Given the description of an element on the screen output the (x, y) to click on. 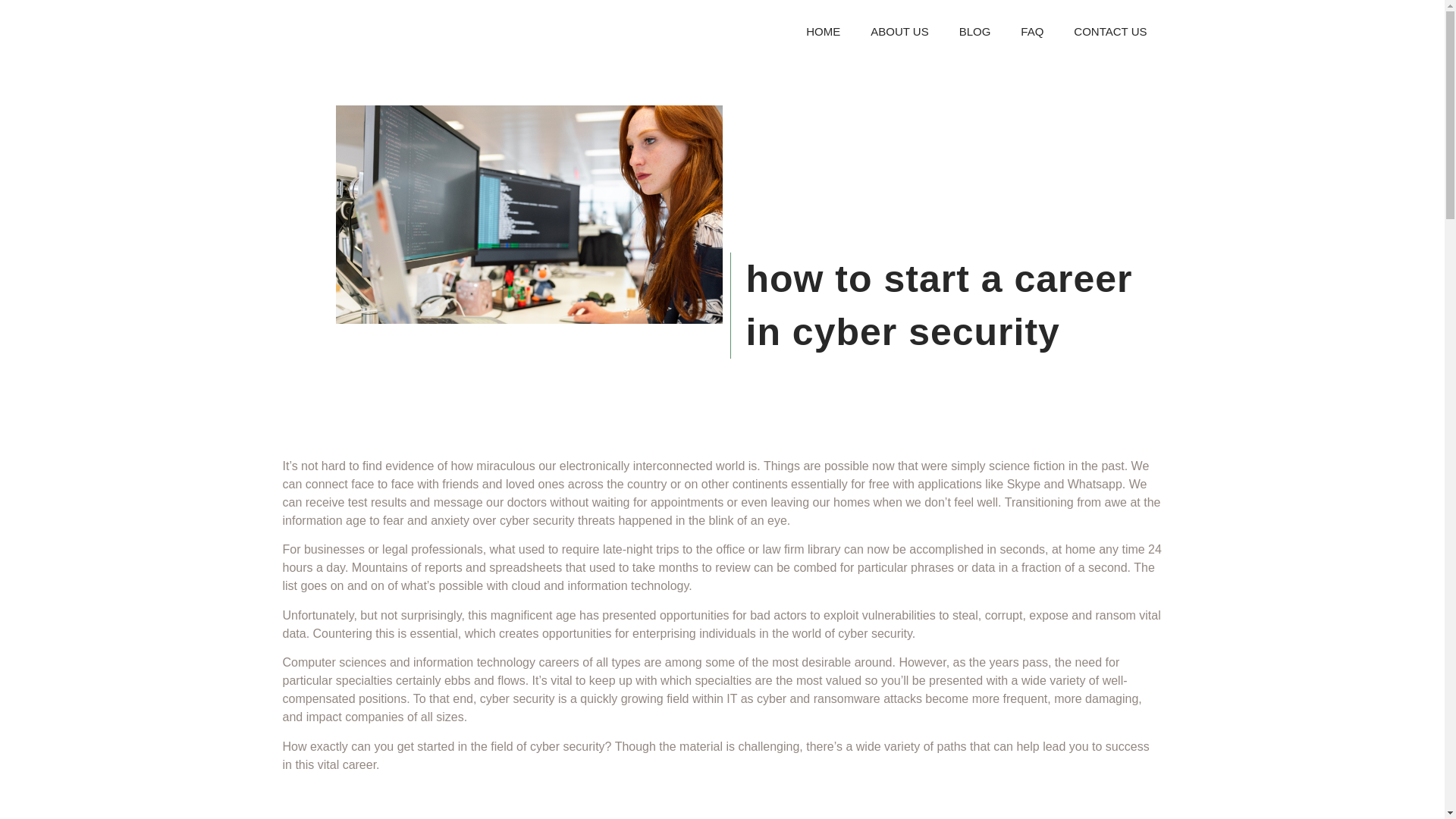
CONTACT US (1109, 31)
ABOUT US (899, 31)
FAQ (1032, 31)
BLOG (974, 31)
HOME (823, 31)
